Given the description of an element on the screen output the (x, y) to click on. 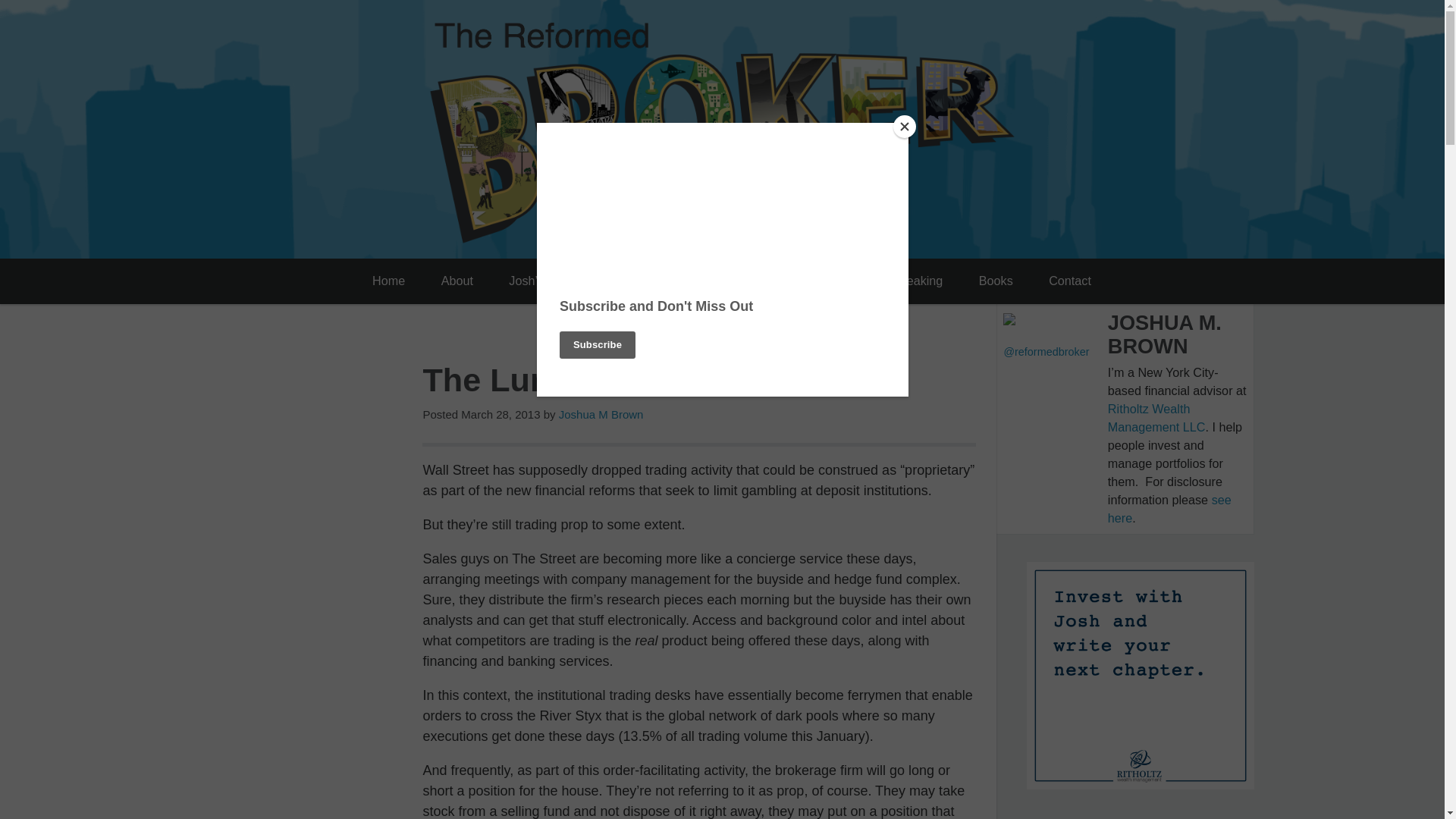
Contact (1069, 280)
Public Speaking (899, 280)
Posts by Joshua M Brown (601, 413)
In the News! (784, 280)
Joshua M Brown (601, 413)
Home (388, 280)
About (456, 280)
Invest with Josh (670, 280)
Books (995, 280)
